Given the description of an element on the screen output the (x, y) to click on. 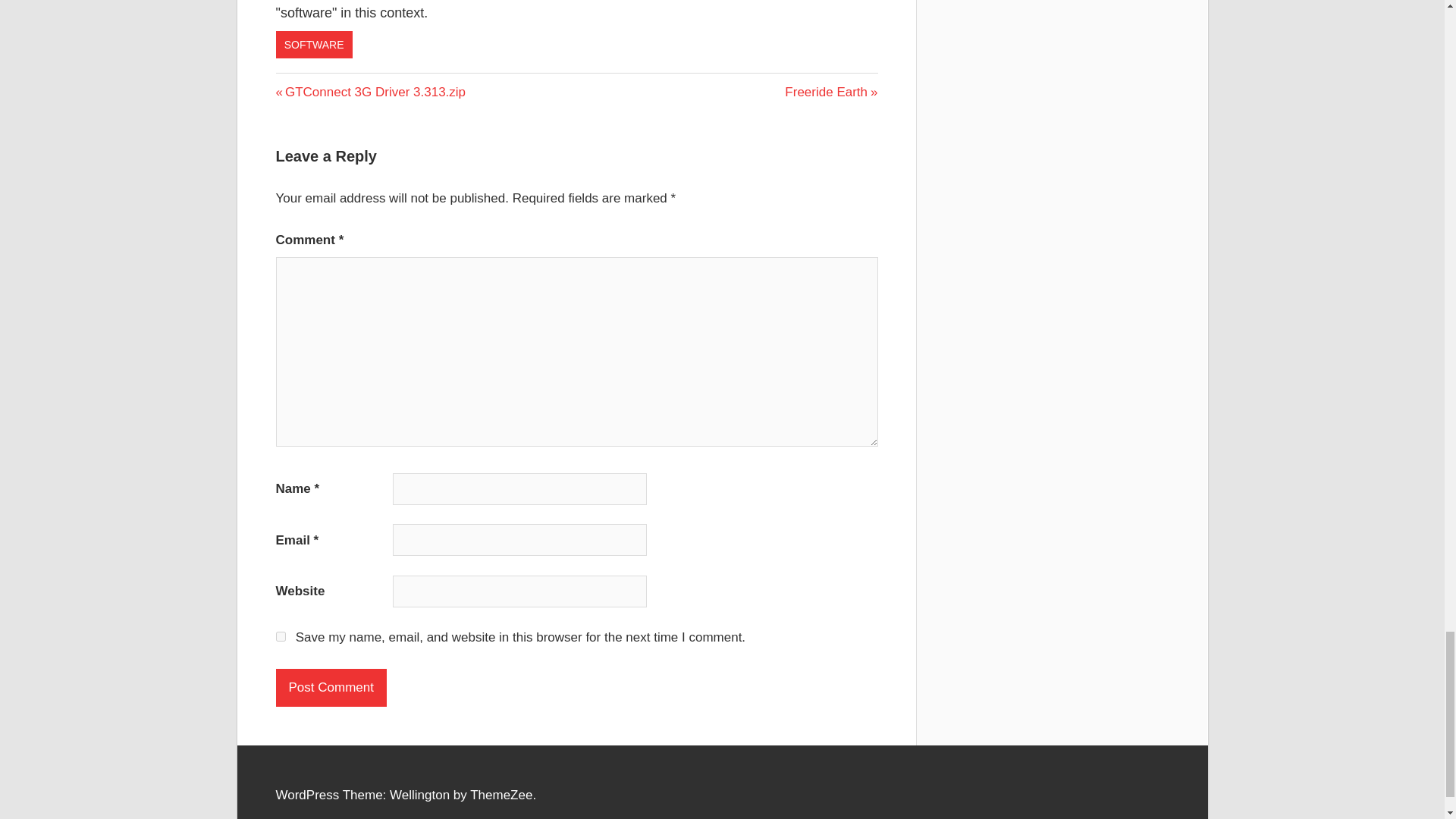
SOFTWARE (314, 44)
Post Comment (370, 92)
Post Comment (331, 687)
yes (830, 92)
